Given the description of an element on the screen output the (x, y) to click on. 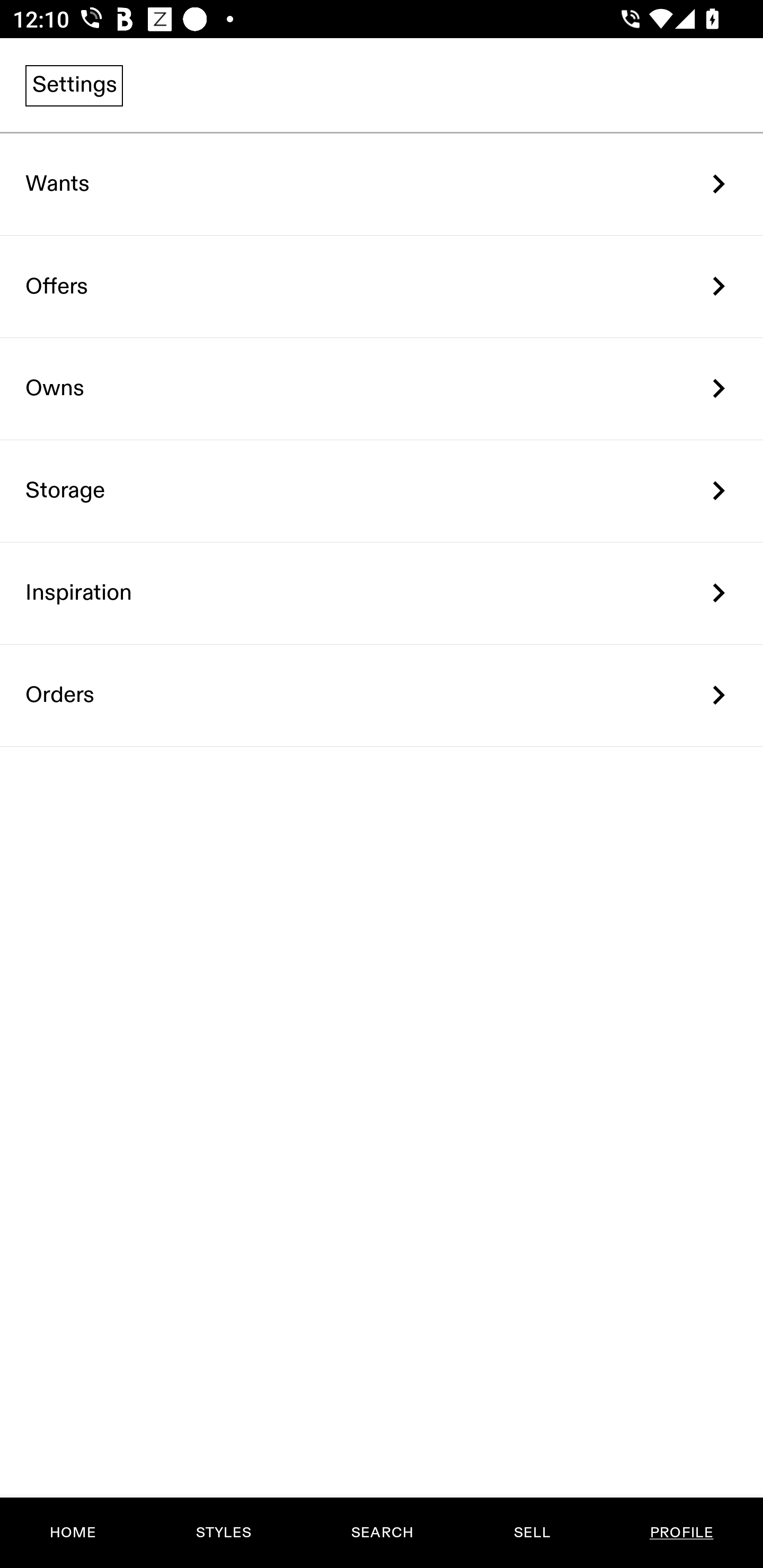
Settings (73, 85)
Wants (381, 184)
Offers (381, 286)
Owns (381, 388)
Storage (381, 491)
Inspiration (381, 593)
Orders (381, 695)
HOME (72, 1532)
STYLES (222, 1532)
SEARCH (381, 1532)
SELL (531, 1532)
PROFILE (681, 1532)
